Given the description of an element on the screen output the (x, y) to click on. 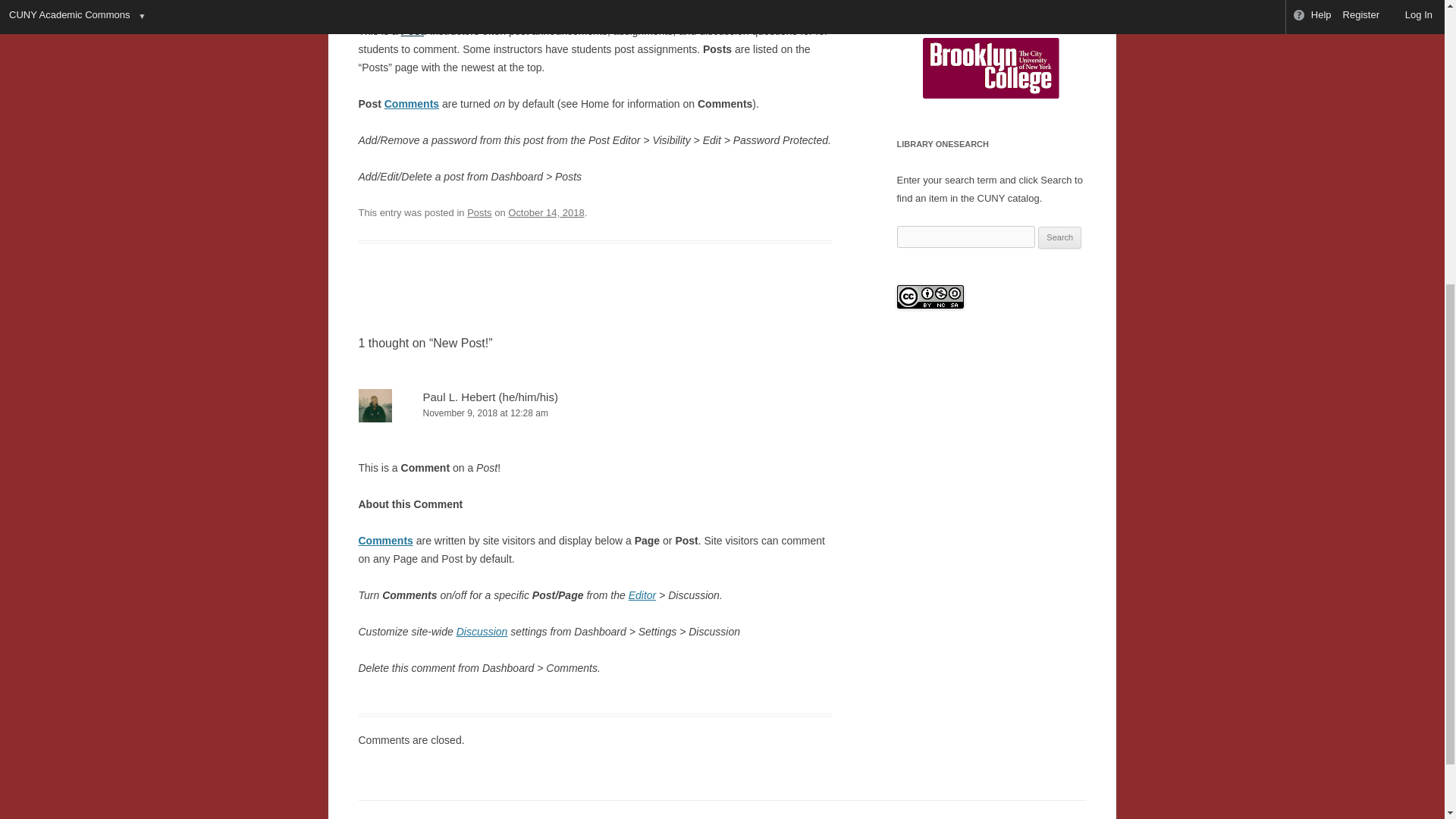
Comments (385, 540)
Editor (642, 594)
Search (1033, 0)
Post (412, 30)
Search (1059, 237)
Search (1033, 0)
Comments (411, 103)
Discussion (482, 631)
Brooklyn College (991, 67)
October 14, 2018 (545, 212)
November 9, 2018 at 12:28 am (594, 413)
8:28 pm (545, 212)
Search (1059, 237)
Posts (479, 212)
